Given the description of an element on the screen output the (x, y) to click on. 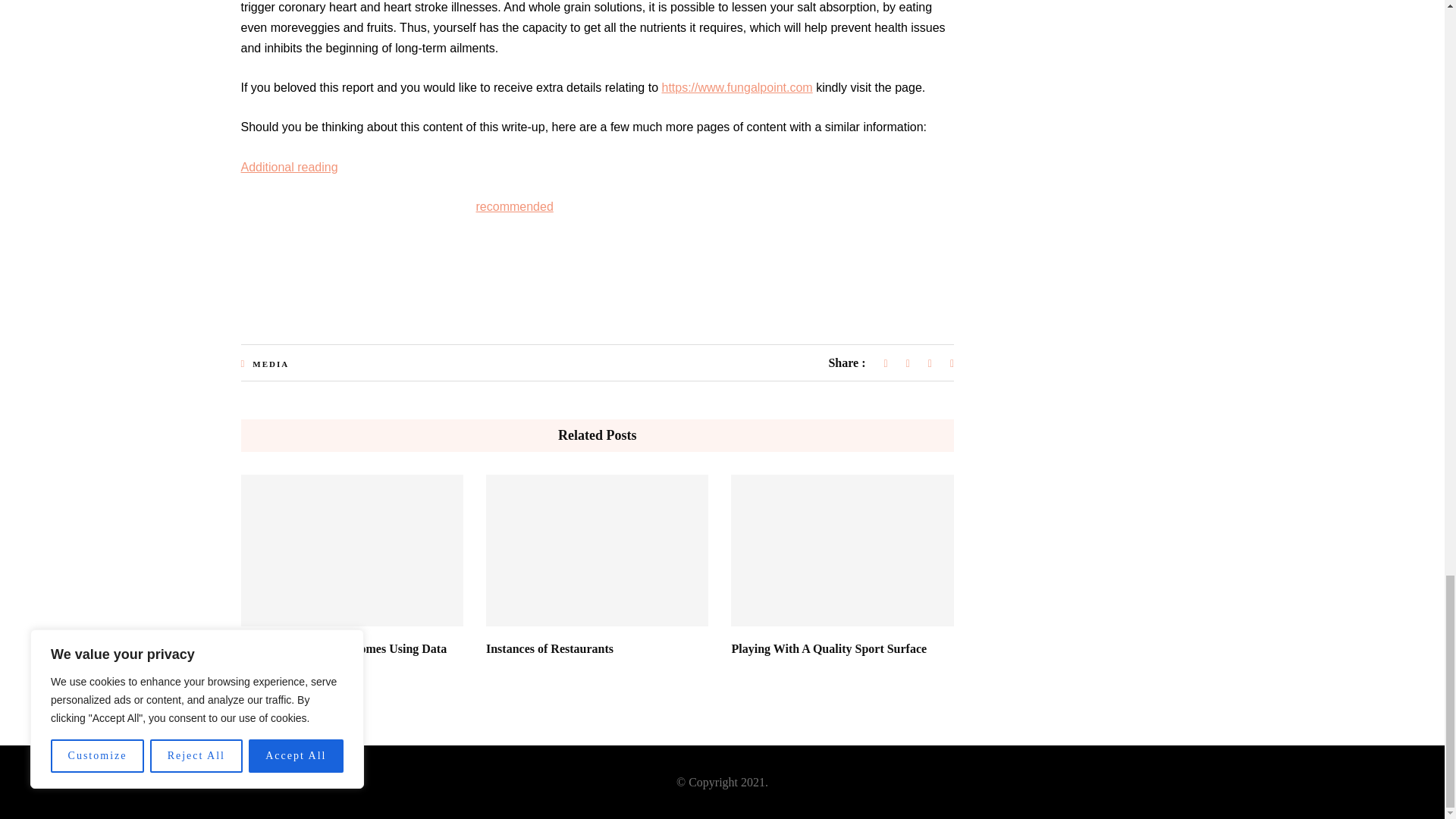
recommended (514, 205)
Predicting Sports Outcomes Using Data Analytics (343, 656)
Playing With A Quality Sport Surface (828, 648)
Instances of Restaurants (549, 648)
MEDIA (269, 363)
Additional reading (289, 166)
